Given the description of an element on the screen output the (x, y) to click on. 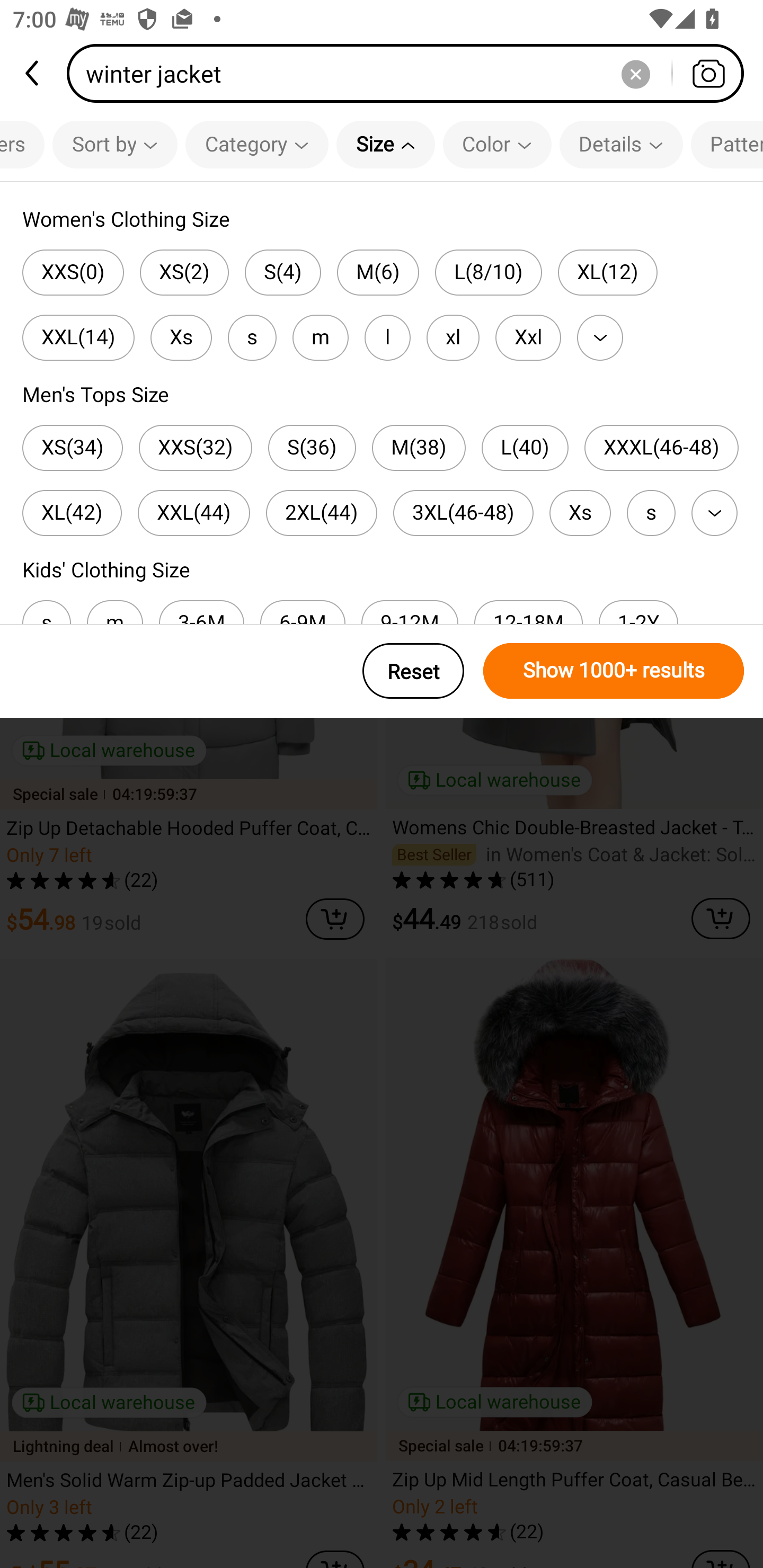
back (33, 72)
winter jacket (411, 73)
Delete search history (635, 73)
Search by photo (708, 73)
Sort by (114, 143)
Category (256, 143)
Size (385, 143)
Color (497, 143)
Details (620, 143)
Patterned (727, 143)
XXS(0) (72, 272)
XS(2) (183, 272)
S(4) (282, 272)
M(6) (377, 272)
L(8/10) (487, 272)
XL(12) (607, 272)
XXL(14) (78, 337)
Xs (181, 337)
s (252, 337)
m (320, 337)
l (387, 337)
xl (452, 337)
Xxl (527, 337)
More (599, 337)
XS(34) (72, 447)
XXS(32) (195, 447)
S(36) (311, 447)
M(38) (418, 447)
L(40) (524, 447)
XXXL(46-48) (661, 447)
XL(42) (72, 512)
XXL(44) (194, 512)
2XL(44) (321, 512)
3XL(46-48) (462, 512)
Xs (580, 512)
s (651, 512)
More (714, 512)
Reset (412, 670)
Show 1000+ results (612, 670)
